Given the description of an element on the screen output the (x, y) to click on. 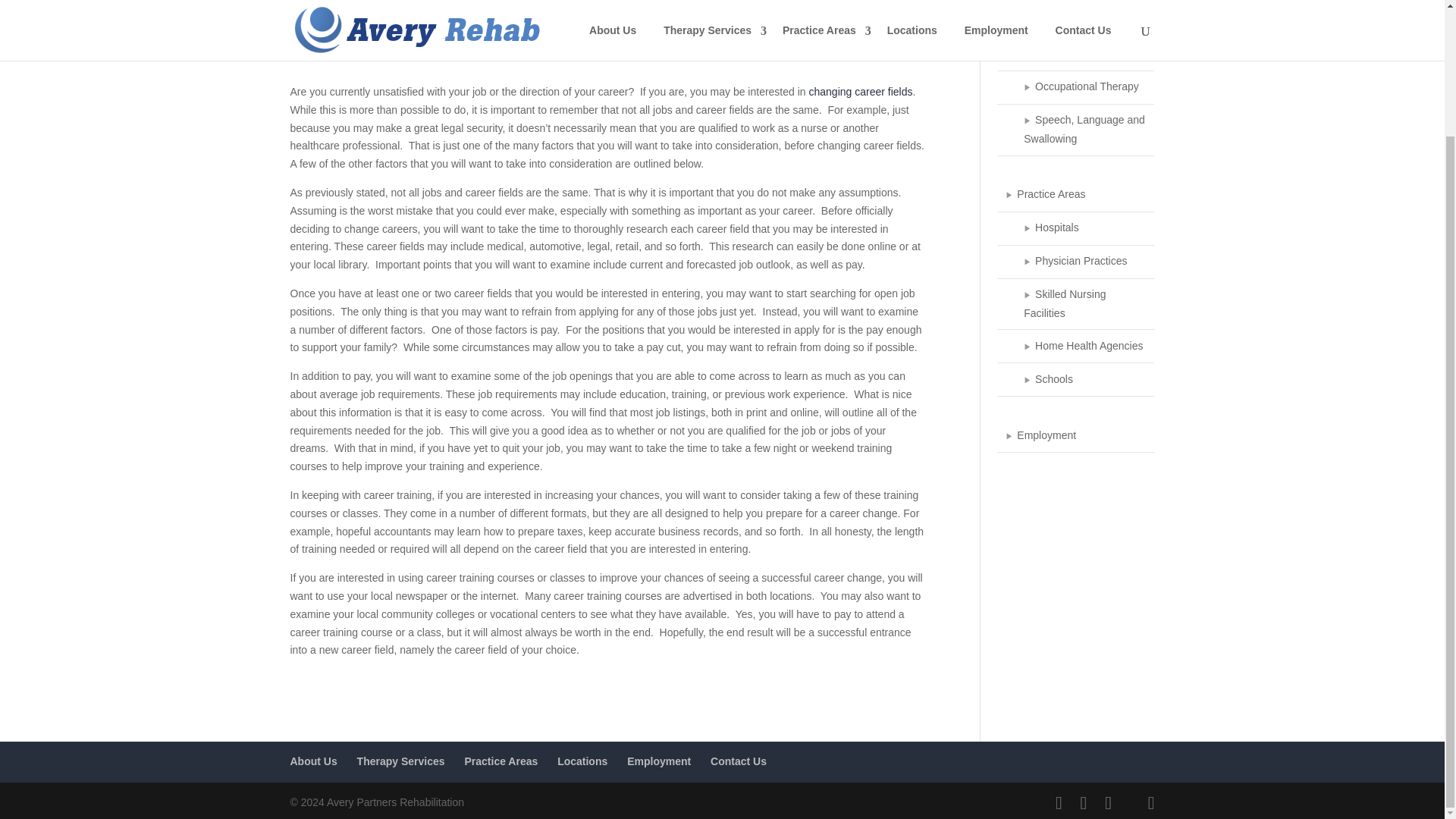
Practice Areas (1075, 195)
Hiring Tips (673, 16)
Hospitals (1075, 228)
Accounting Jobs (464, 16)
0 comments (324, 34)
apr-admin (328, 16)
Therapy Services (400, 761)
Employment (614, 16)
Therapy Services (1075, 20)
Speech, Language and Swallowing (1075, 130)
medical (764, 16)
Practice Areas (500, 761)
Home Health Agencies (1075, 346)
Avery Partners (543, 16)
Occupational Therapy (1075, 87)
